Given the description of an element on the screen output the (x, y) to click on. 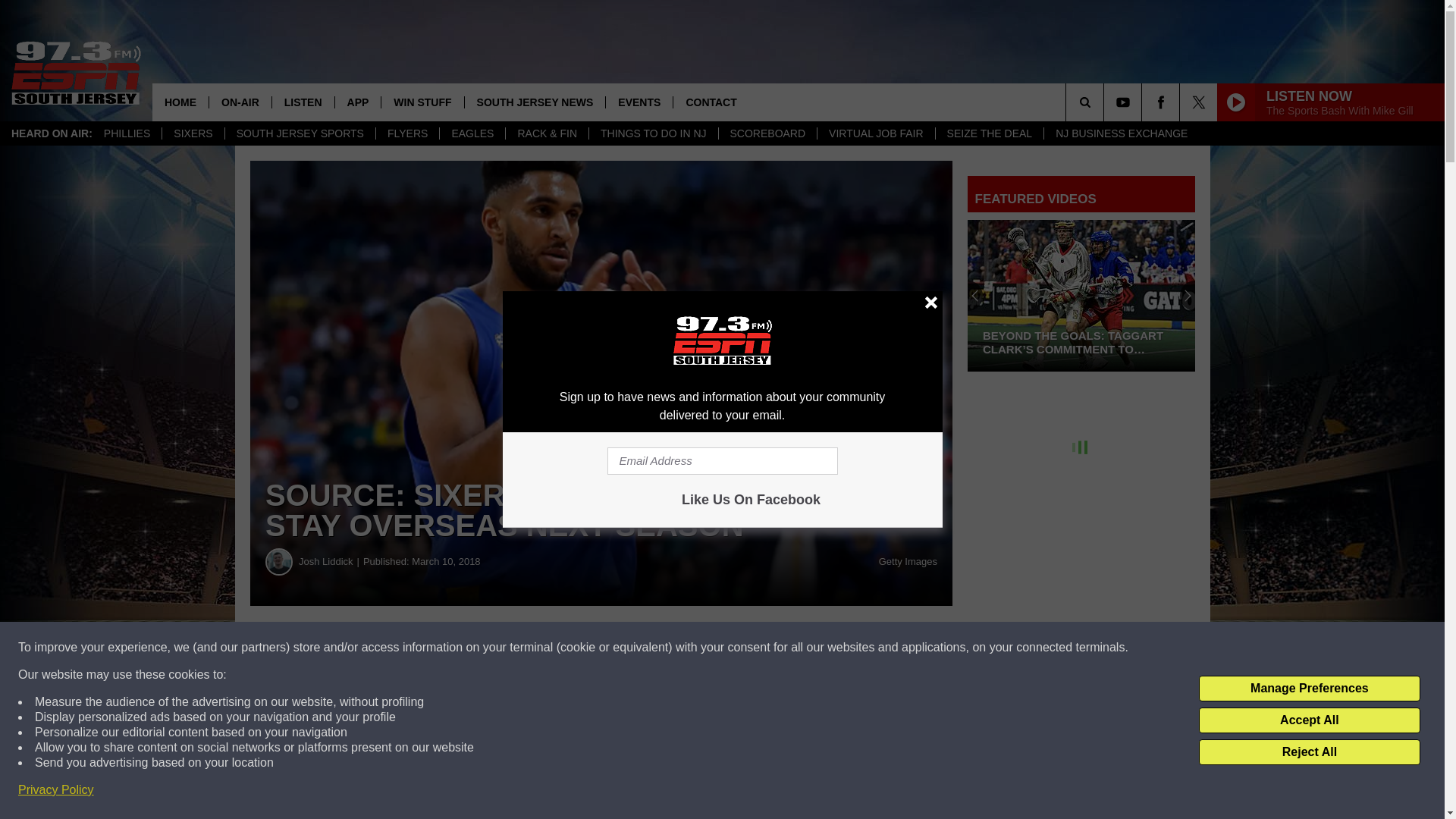
VIRTUAL JOB FAIR (875, 133)
Accept All (1309, 720)
SEARCH (1106, 102)
Manage Preferences (1309, 688)
APP (357, 102)
LISTEN (302, 102)
NJ BUSINESS EXCHANGE (1120, 133)
SOUTH JERSEY SPORTS (299, 133)
FLYERS (407, 133)
SIXERS (192, 133)
Reject All (1309, 751)
Email Address (722, 461)
EAGLES (472, 133)
SCOREBOARD (766, 133)
Share on Facebook (460, 647)
